Given the description of an element on the screen output the (x, y) to click on. 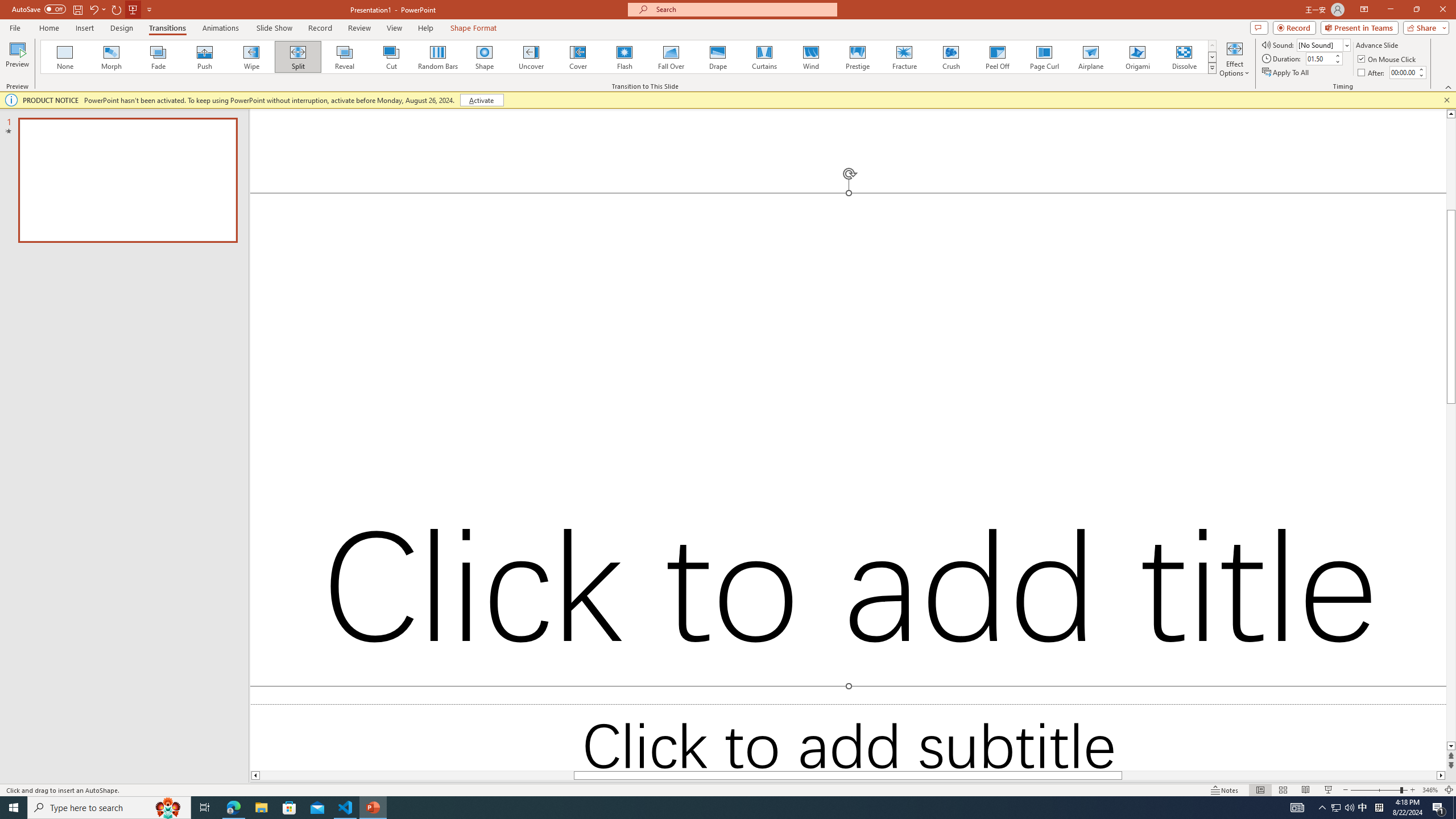
Heading 2 (972, 91)
Center (429, 102)
Shrink Font (266, 77)
Replace... (1078, 91)
Text Highlight Color (288, 102)
Font Color RGB(255, 0, 0) (317, 102)
Subtle Reference (1369, 479)
Text Highlight Color Yellow (282, 102)
